Given the description of an element on the screen output the (x, y) to click on. 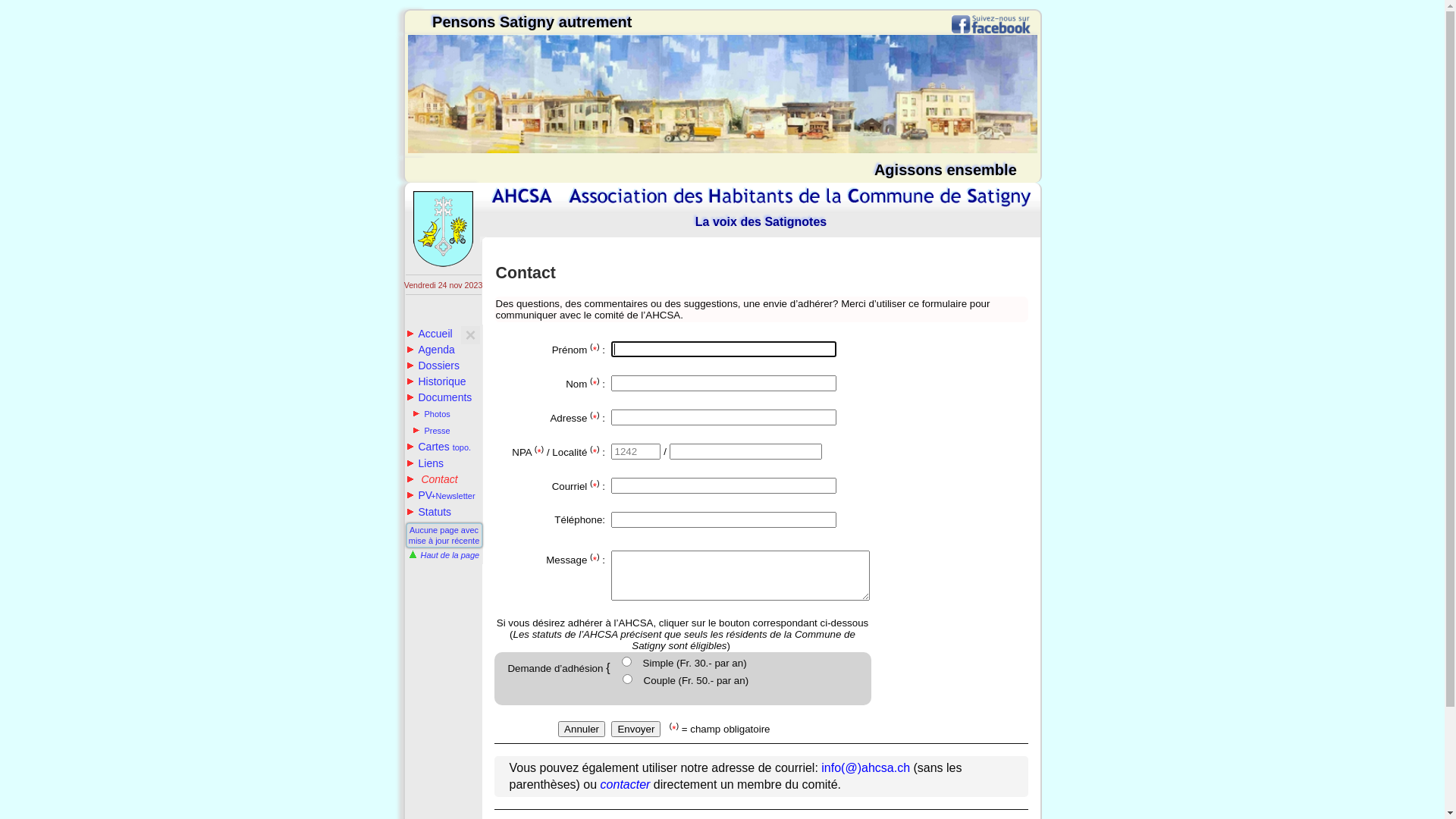
Annuler Element type: text (581, 729)
Documents Element type: text (439, 397)
Presse Element type: text (431, 430)
Historique Element type: text (436, 381)
Cartes topo. Element type: text (438, 446)
PV+Newsletter Element type: text (440, 495)
Haut de la page Element type: text (443, 554)
Simple Element type: text (626, 661)
Envoyer Element type: text (635, 729)
contacter Element type: text (625, 784)
Agenda Element type: text (430, 349)
Statuts Element type: text (428, 511)
Accueil Element type: text (429, 333)
Couple Element type: text (627, 679)
Dossiers Element type: text (432, 365)
Liens Element type: text (424, 463)
Photos Element type: text (431, 413)
